Given the description of an element on the screen output the (x, y) to click on. 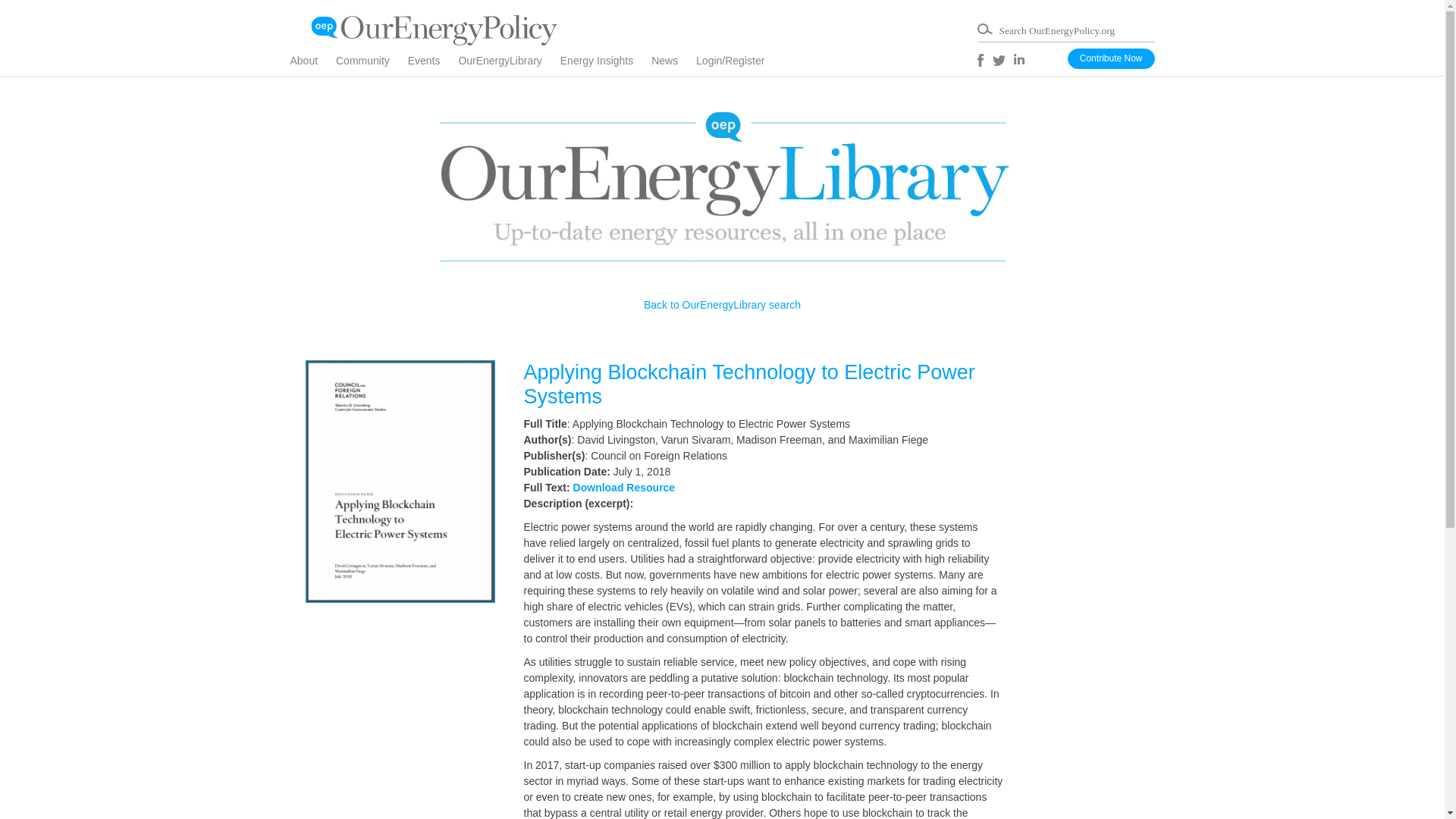
Applying Blockchain Technology to Electric Power Systems (748, 384)
Contribute Now (1110, 58)
About (311, 65)
Applying Blockchain Technology to Electric Power Systems (748, 384)
Community (370, 65)
Back to OurEnergyLibrary search (721, 304)
Energy Insights (604, 65)
OurEnergyLibrary (507, 65)
Download Resource (624, 487)
Events (431, 65)
News (671, 65)
